Given the description of an element on the screen output the (x, y) to click on. 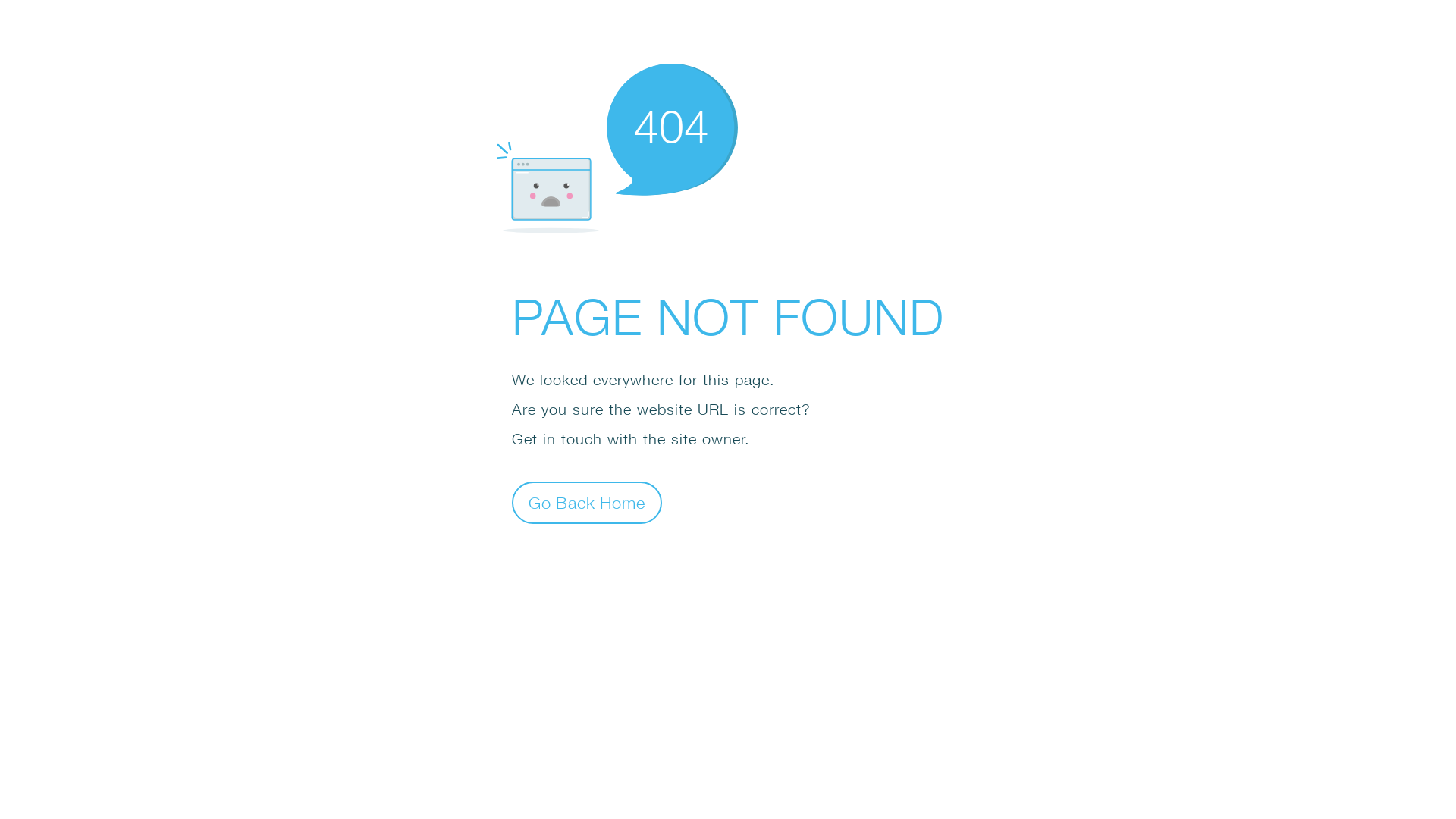
Go Back Home Element type: text (586, 502)
